Given the description of an element on the screen output the (x, y) to click on. 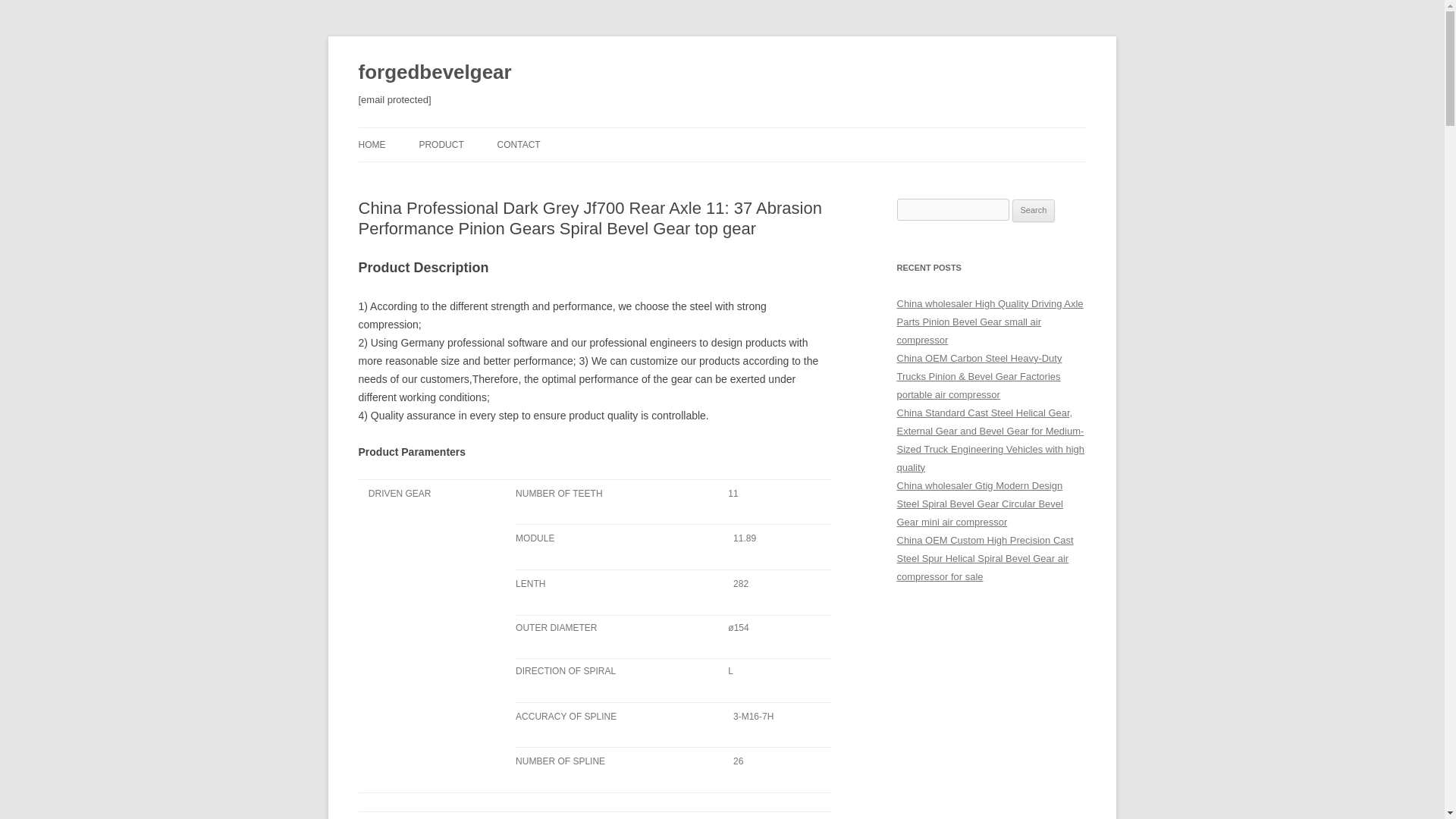
Search (1033, 210)
CONTACT (518, 144)
forgedbevelgear (434, 72)
Search (1033, 210)
forgedbevelgear (434, 72)
